Given the description of an element on the screen output the (x, y) to click on. 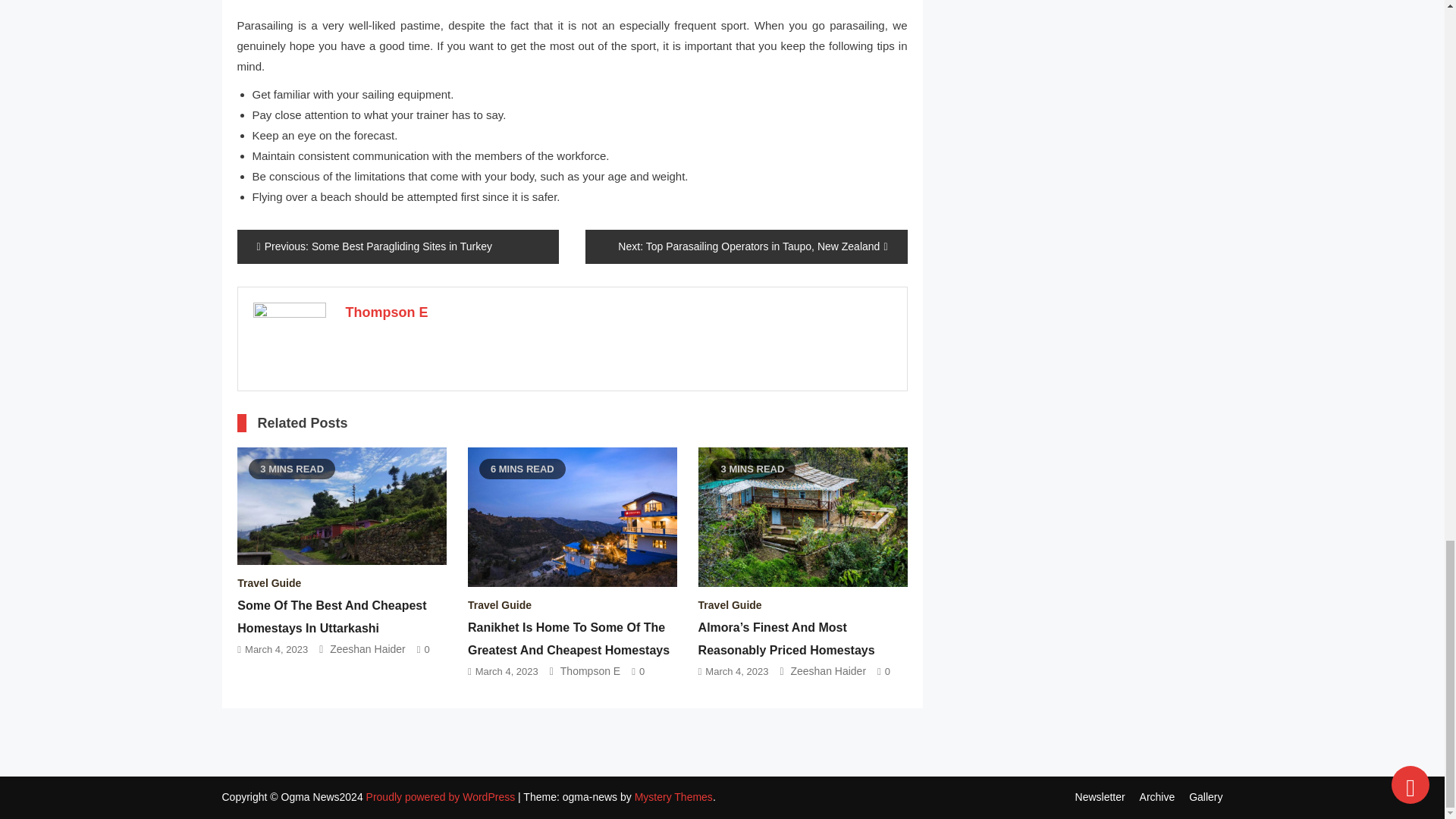
Posts by Thompson E (387, 312)
